Given the description of an element on the screen output the (x, y) to click on. 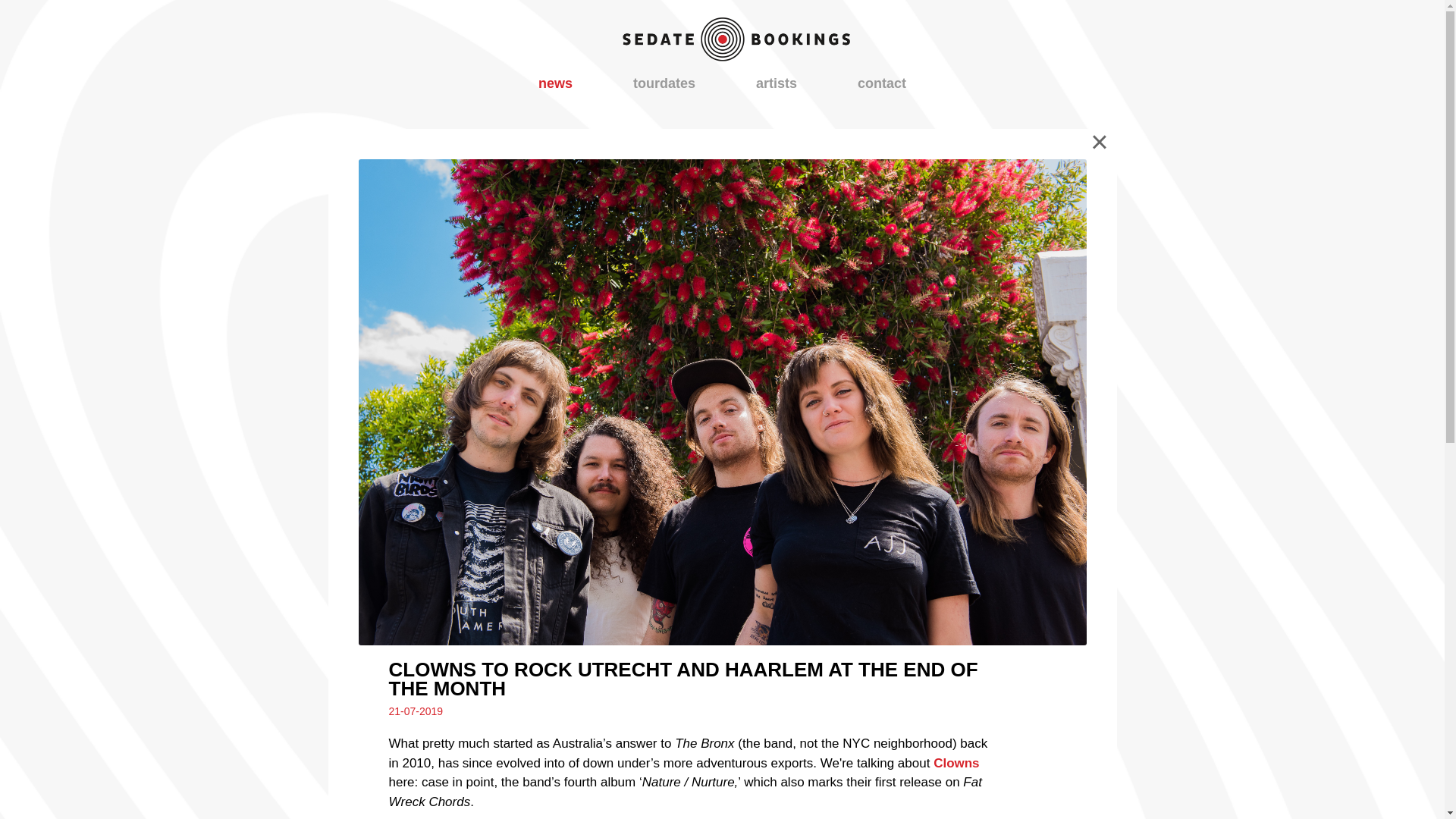
news (555, 83)
tourdates (663, 83)
artists (776, 83)
Clowns (955, 762)
contact (881, 83)
